Given the description of an element on the screen output the (x, y) to click on. 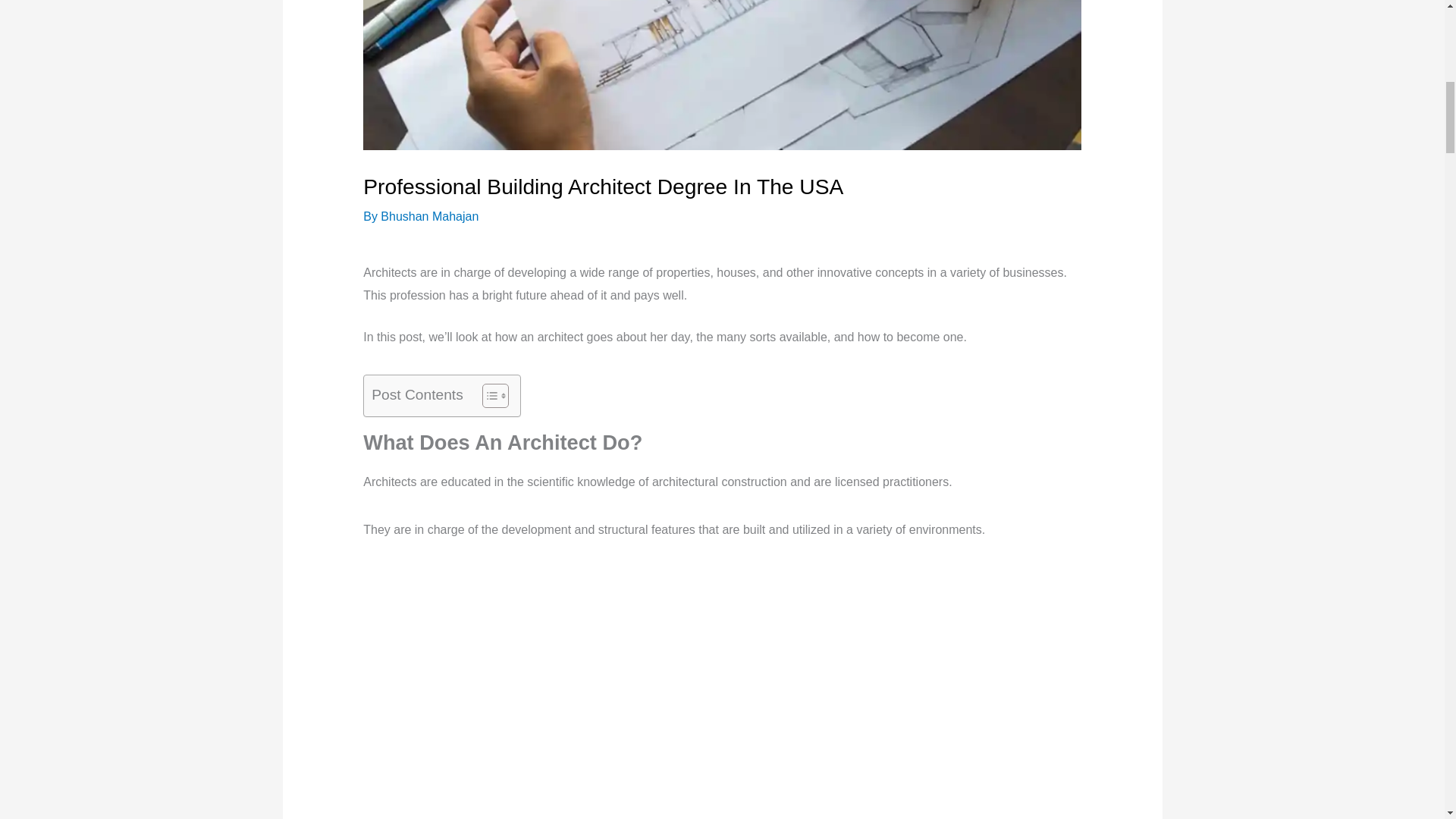
Professional Building Architect Degree In The USA 2 (721, 74)
View all posts by Bhushan Mahajan (429, 215)
